Given the description of an element on the screen output the (x, y) to click on. 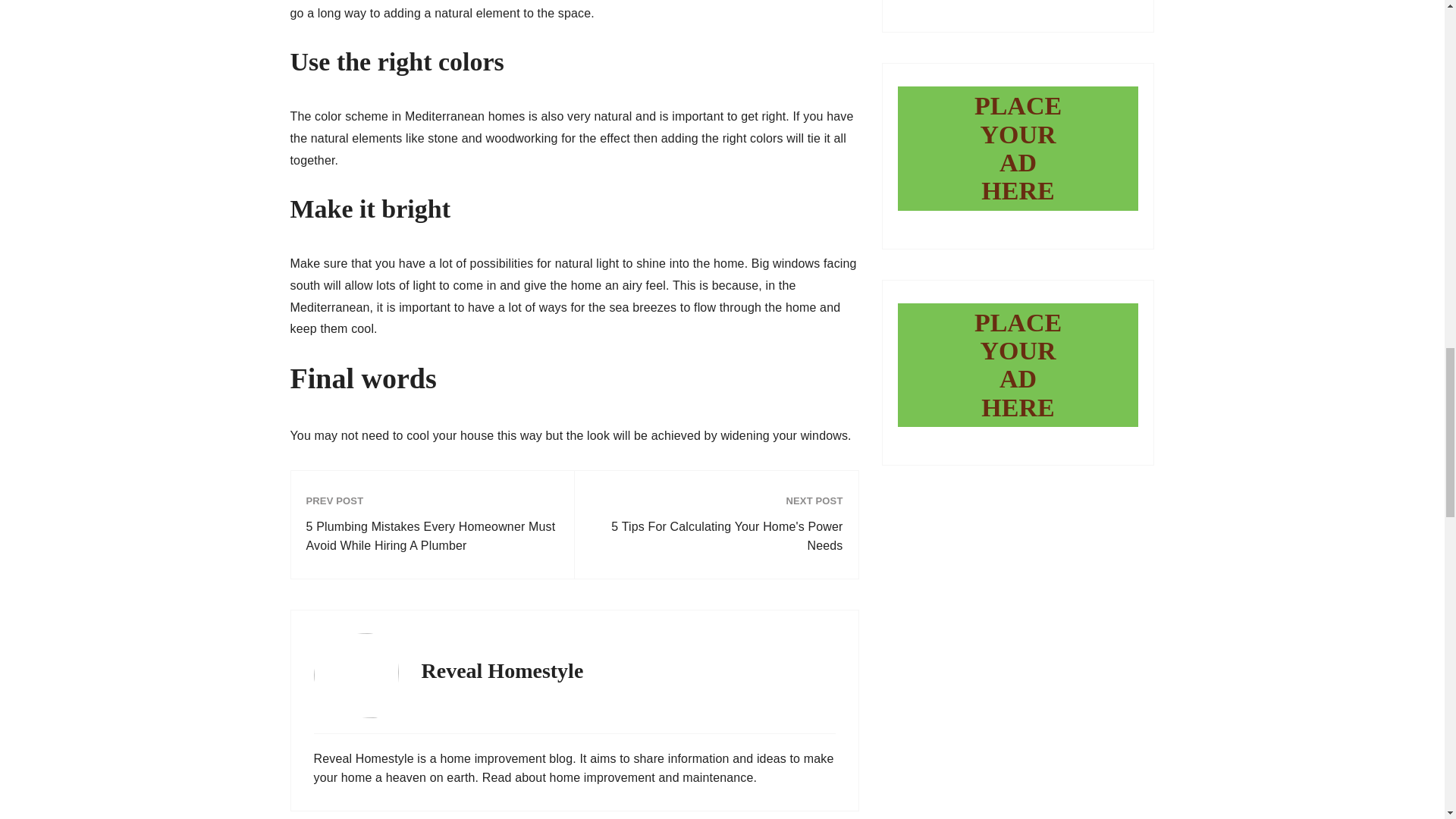
5 Tips For Calculating Your Home's Power Needs (716, 536)
